Given the description of an element on the screen output the (x, y) to click on. 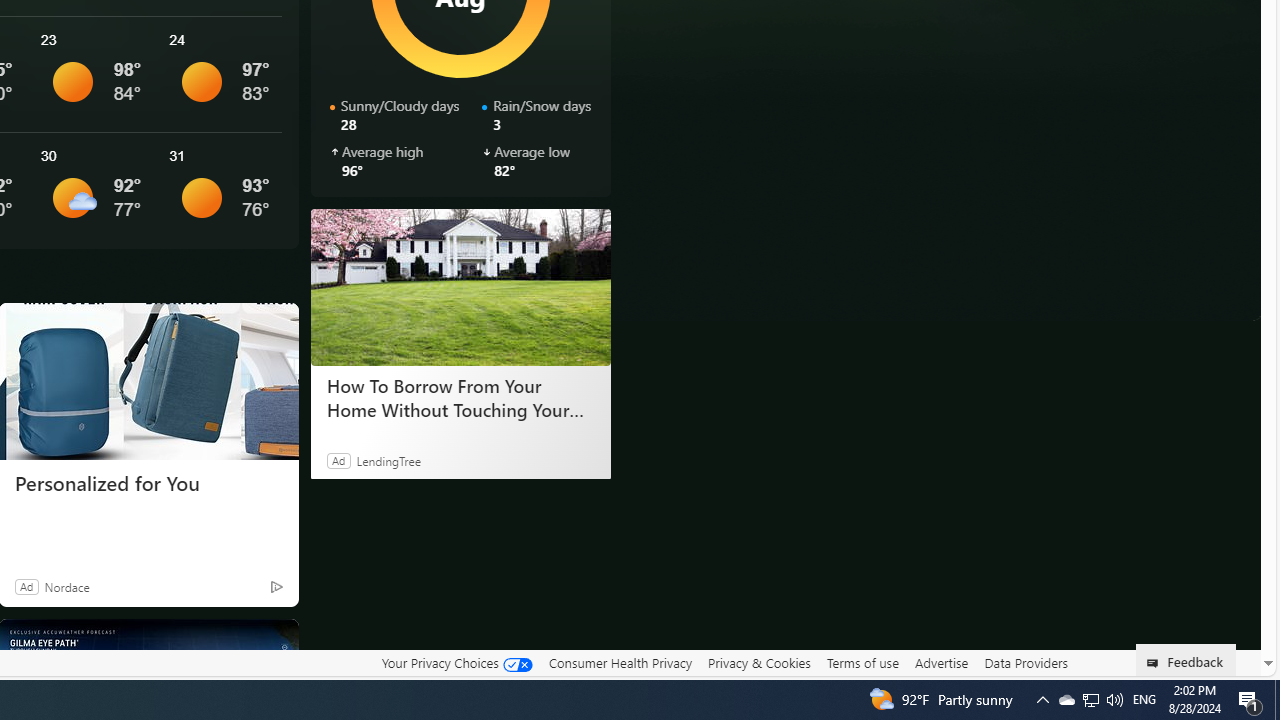
LendingTree (388, 460)
Privacy & Cookies (759, 662)
Your Privacy Choices (456, 663)
Consumer Health Privacy (619, 663)
Your Privacy Choices (456, 662)
Privacy & Cookies (759, 663)
Personalized for You (148, 484)
